Given the description of an element on the screen output the (x, y) to click on. 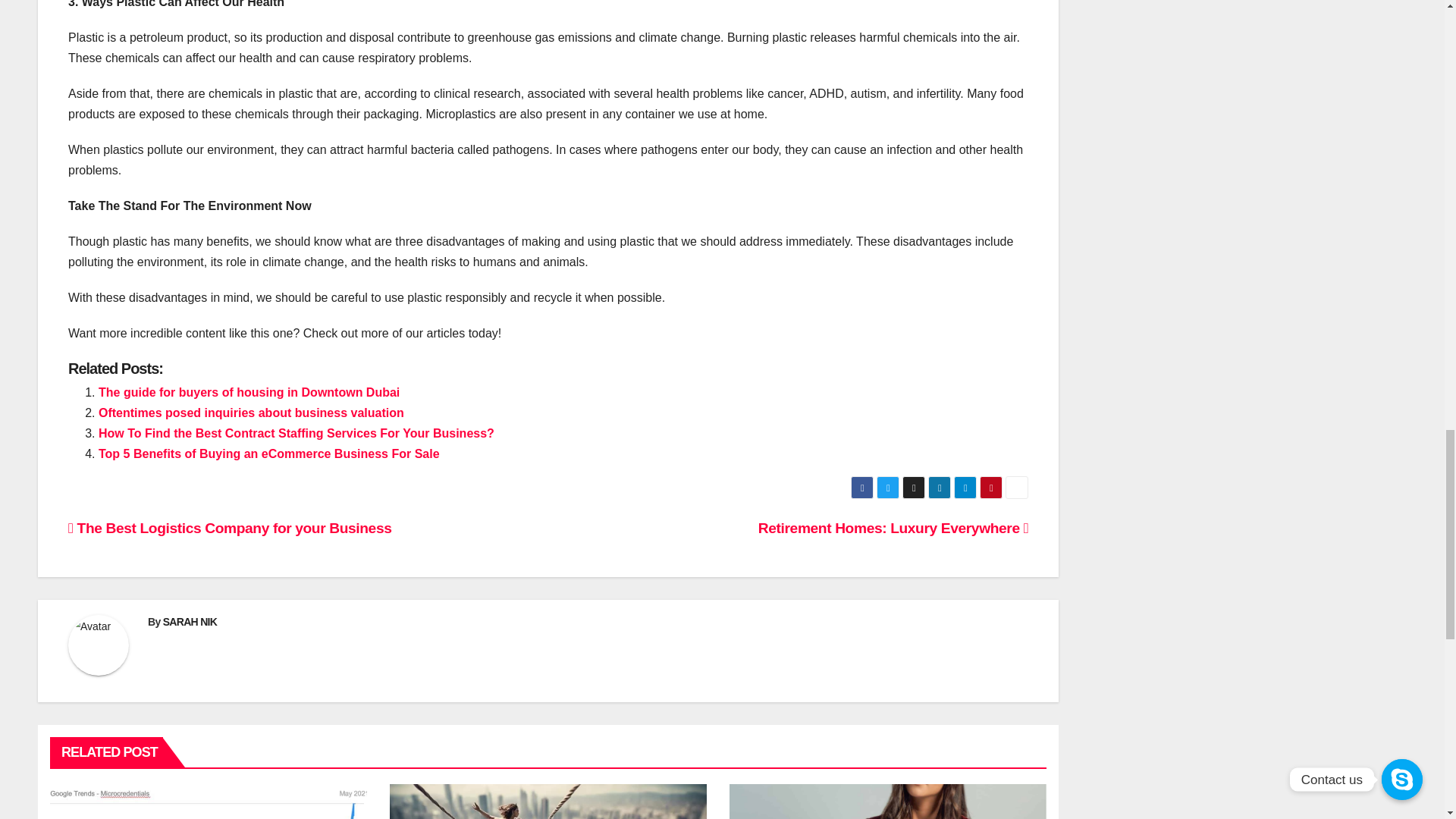
Oftentimes posed inquiries about business valuation (251, 412)
The guide for buyers of housing in Downtown Dubai (248, 391)
Top 5 Benefits of Buying an eCommerce Business For Sale (269, 453)
